Given the description of an element on the screen output the (x, y) to click on. 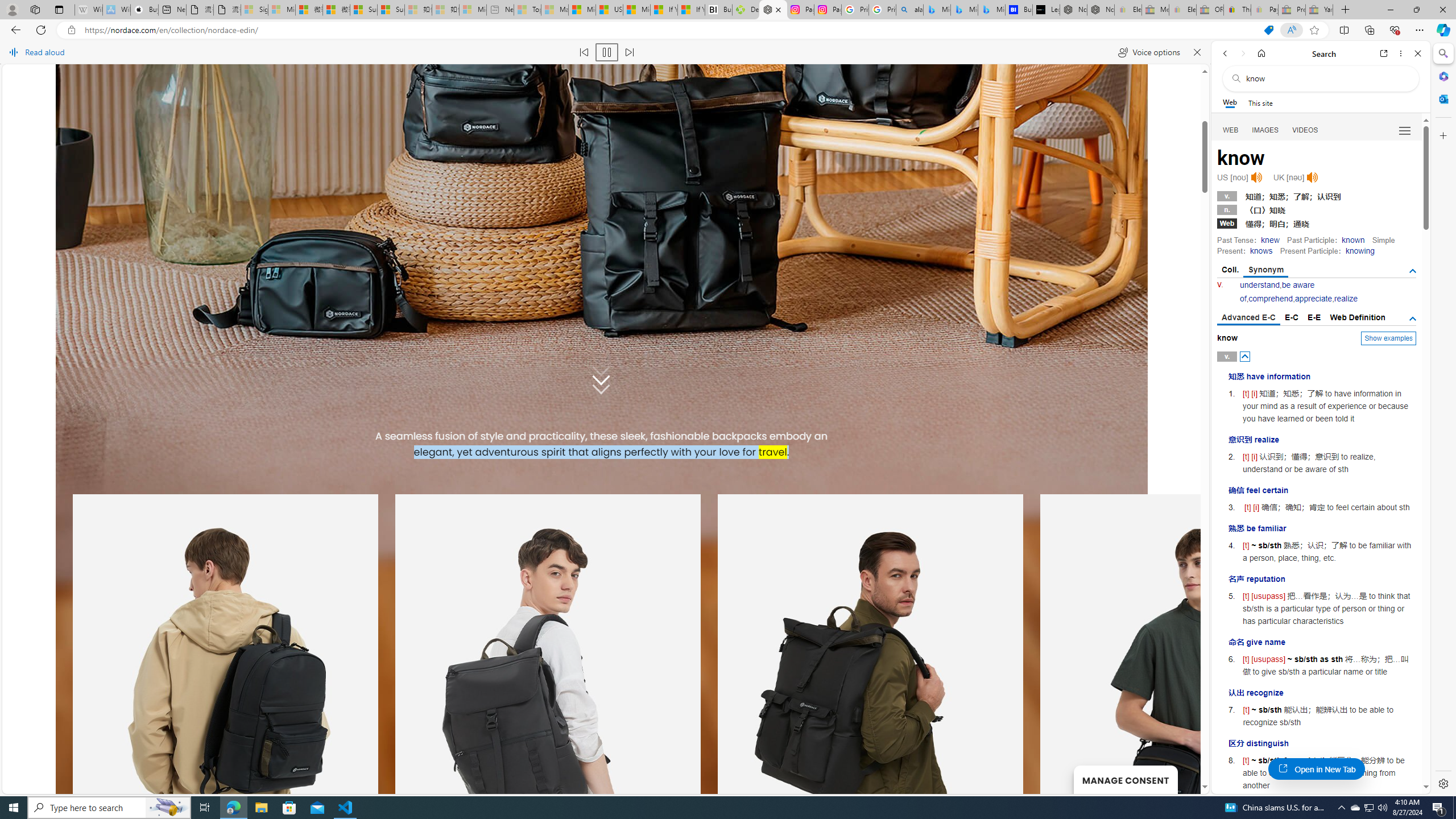
Next (514, 471)
Advanced E-C (1248, 318)
Class: flickity-button-icon (515, 471)
Marine life - MSN - Sleeping (554, 9)
